Given the description of an element on the screen output the (x, y) to click on. 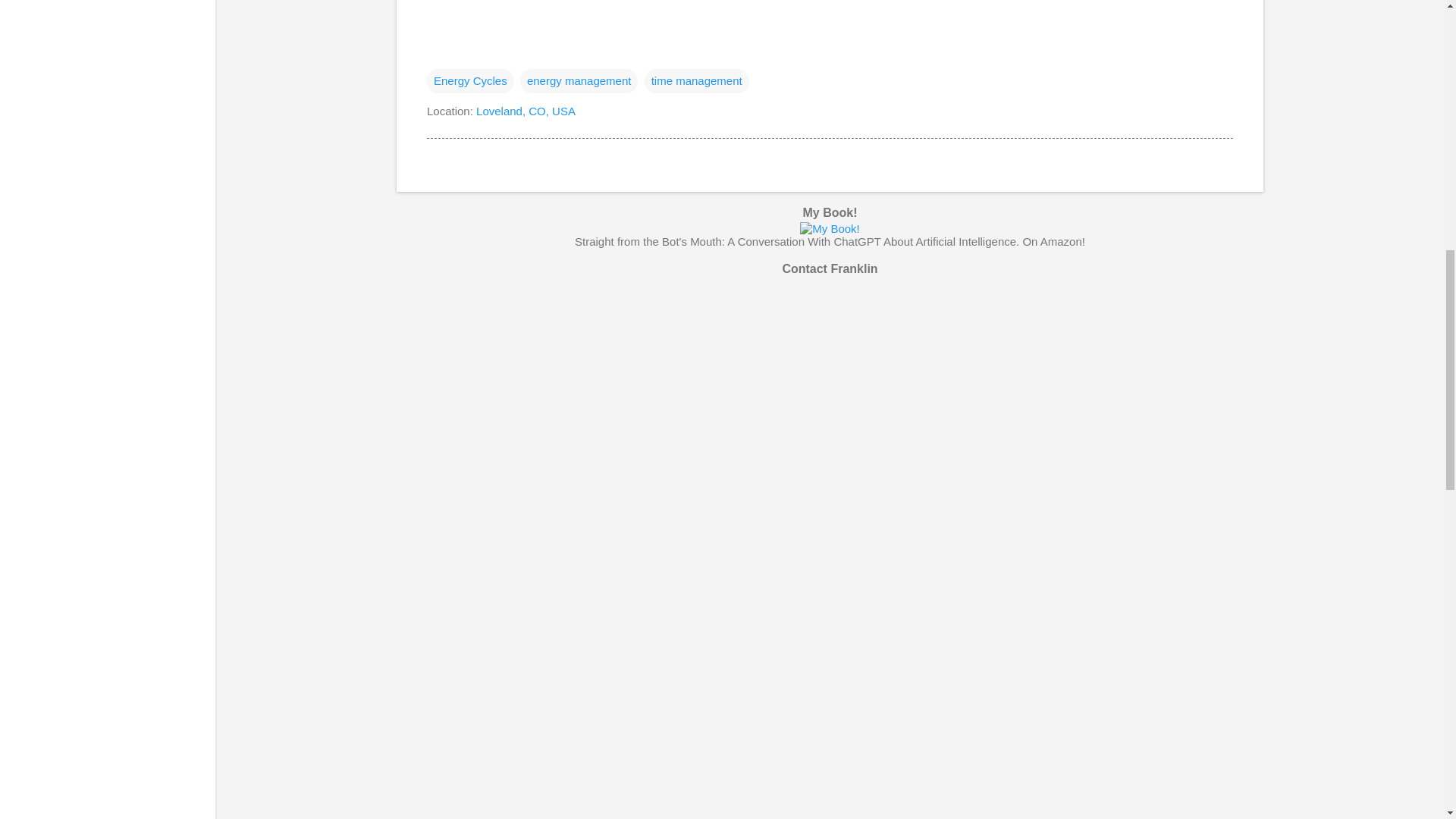
time management (697, 79)
Loveland, CO, USA (525, 110)
energy management (579, 79)
Energy Cycles (469, 79)
